Given the description of an element on the screen output the (x, y) to click on. 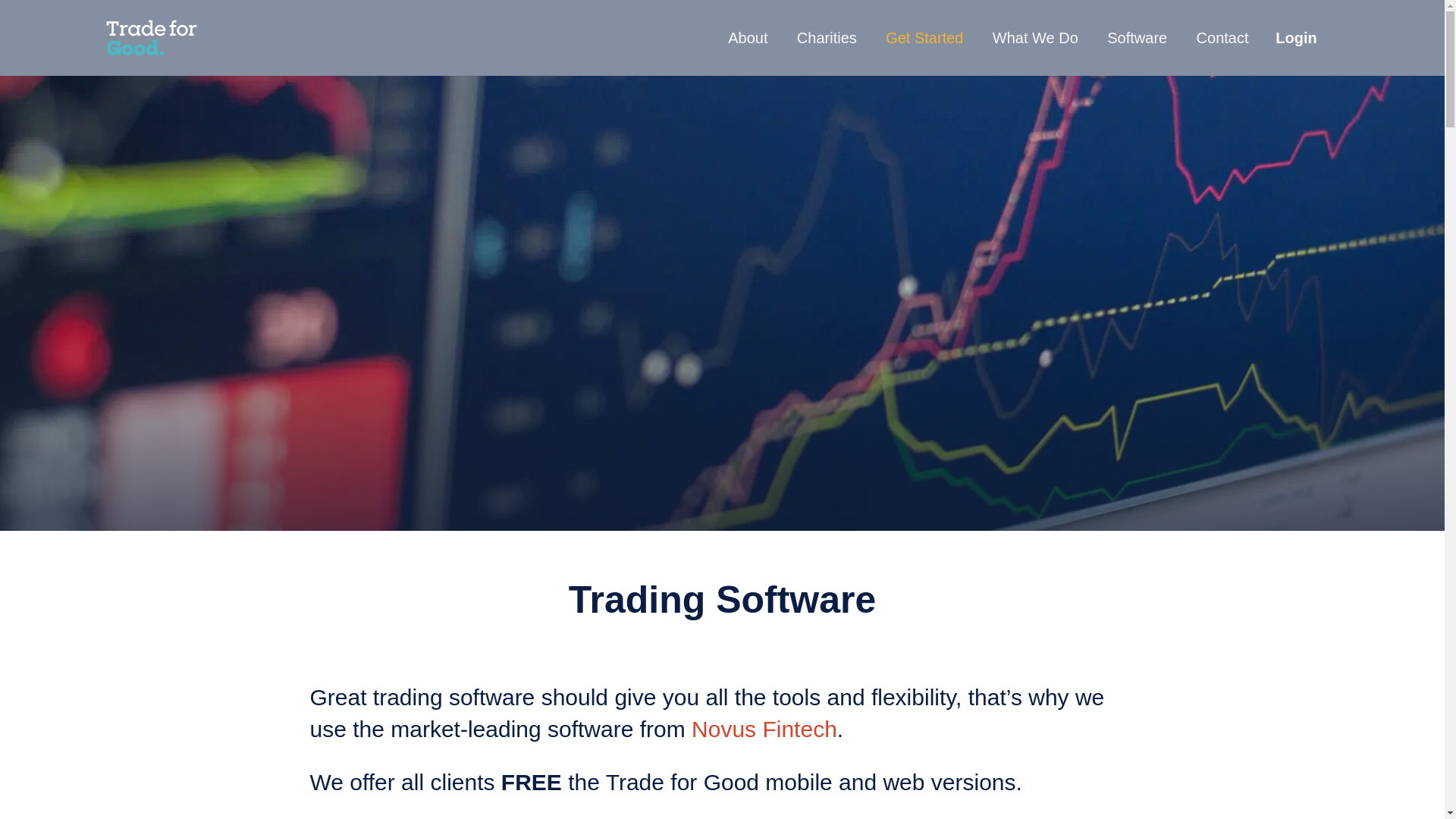
Novus Fintech (764, 728)
Login (1295, 37)
What We Do (1035, 37)
About (747, 37)
Charities (826, 37)
Get Started (923, 37)
Software (1136, 37)
Contact (1222, 37)
